Given the description of an element on the screen output the (x, y) to click on. 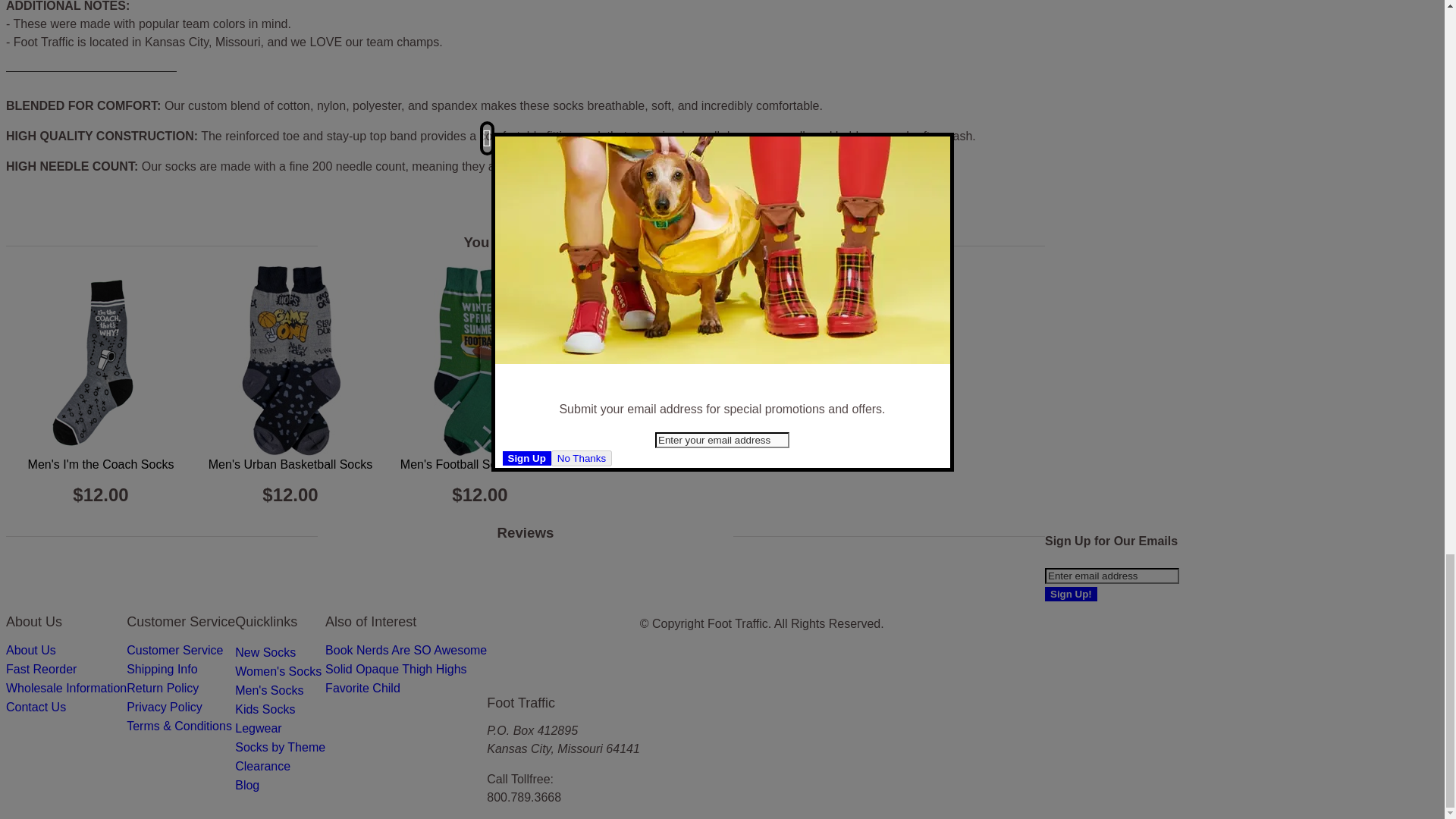
Sign Up! (1071, 594)
